Given the description of an element on the screen output the (x, y) to click on. 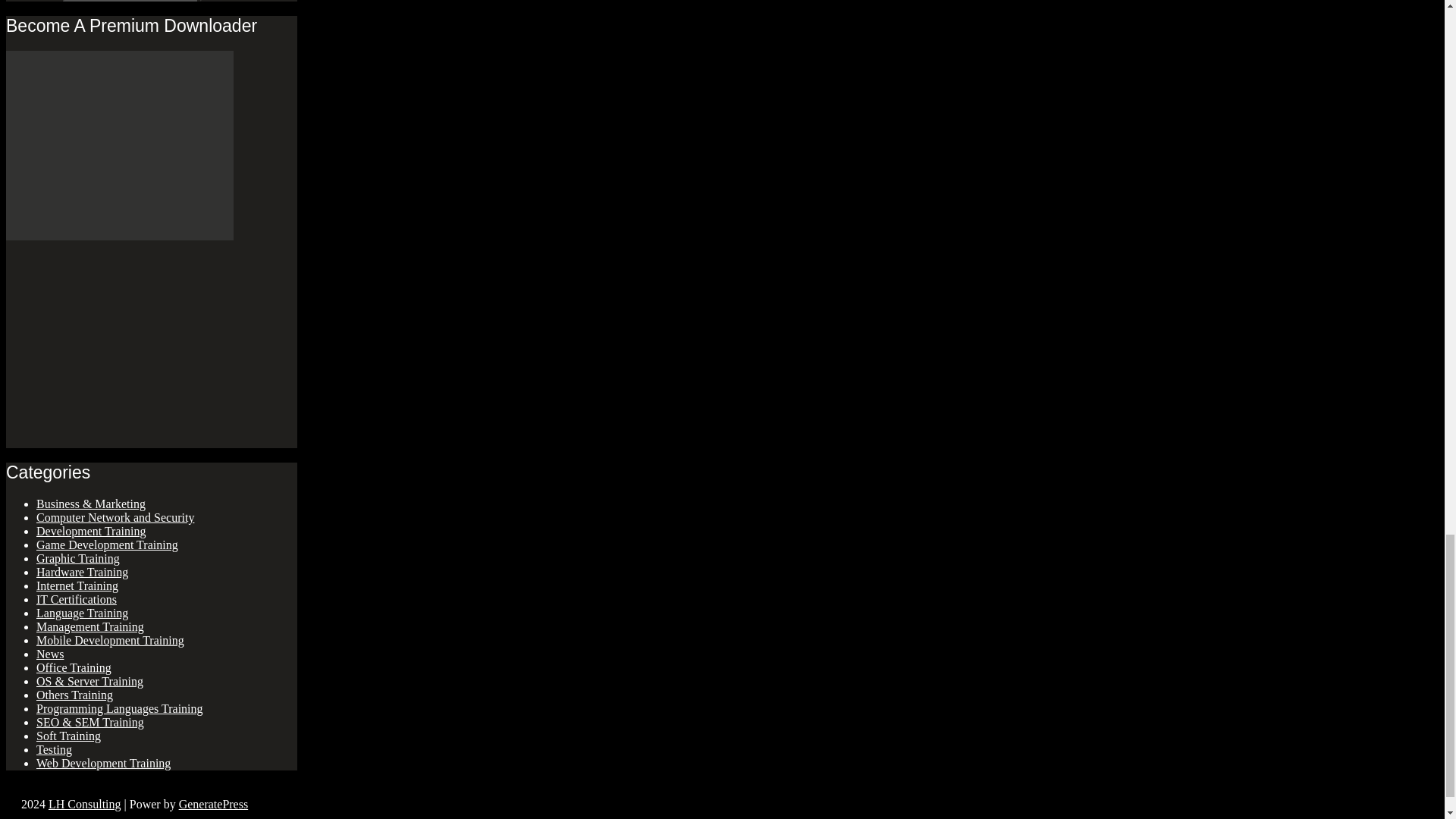
Graphic Training (77, 558)
Computer Network and Security (114, 517)
Web Development Training (103, 762)
Others Training (74, 694)
Office Training (74, 667)
Language Training (82, 612)
LH Consulting (84, 803)
Management Training (90, 626)
IT Certifications (76, 599)
Hardware Training (82, 571)
